Given the description of an element on the screen output the (x, y) to click on. 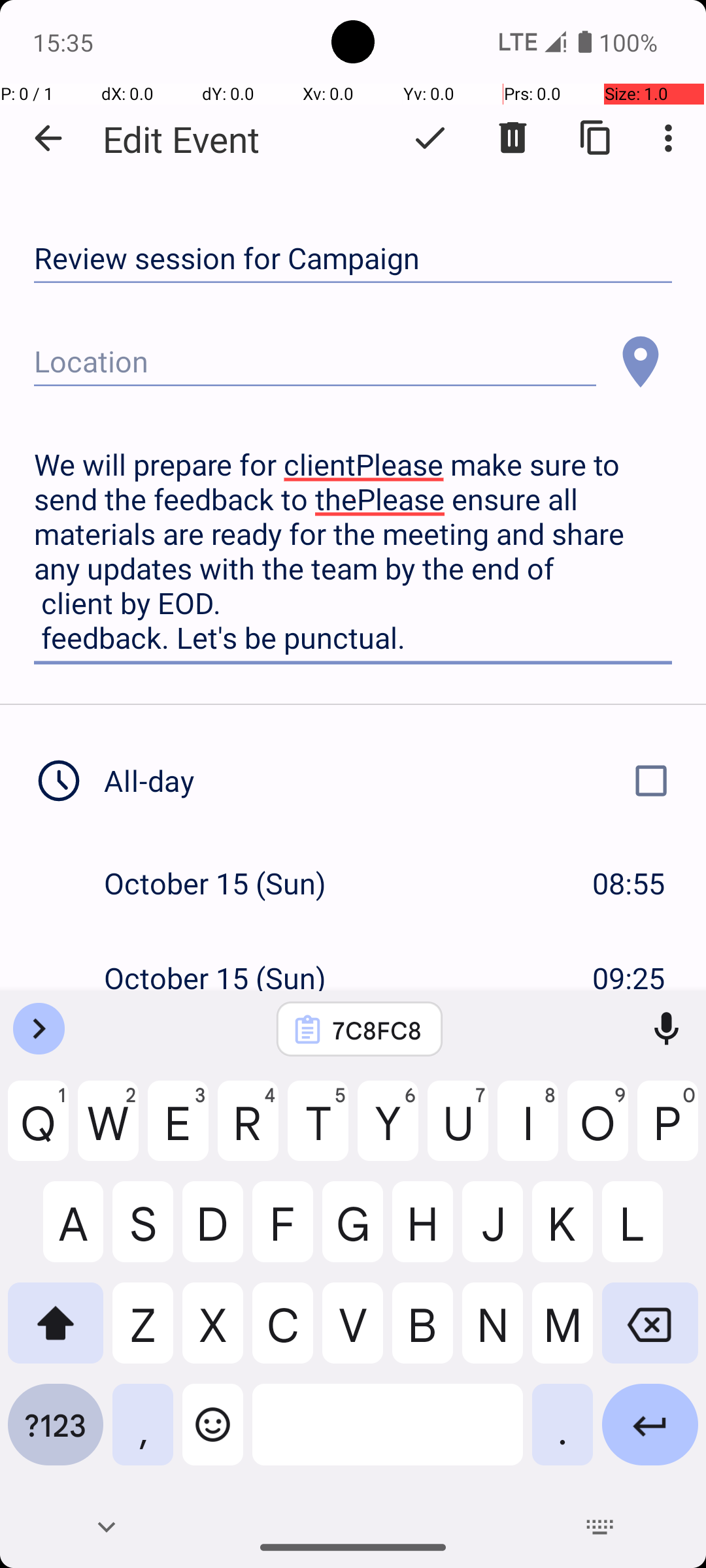
We will prepare for clientPlease make sure to send the feedback to thePlease ensure all materials are ready for the meeting and share any updates with the team by the end of
 client by EOD.
 feedback. Let's be punctual. Element type: android.widget.EditText (352, 551)
08:55 Element type: android.widget.TextView (628, 882)
09:25 Element type: android.widget.TextView (628, 977)
7C8FC8 Element type: android.widget.TextView (376, 1029)
